Given the description of an element on the screen output the (x, y) to click on. 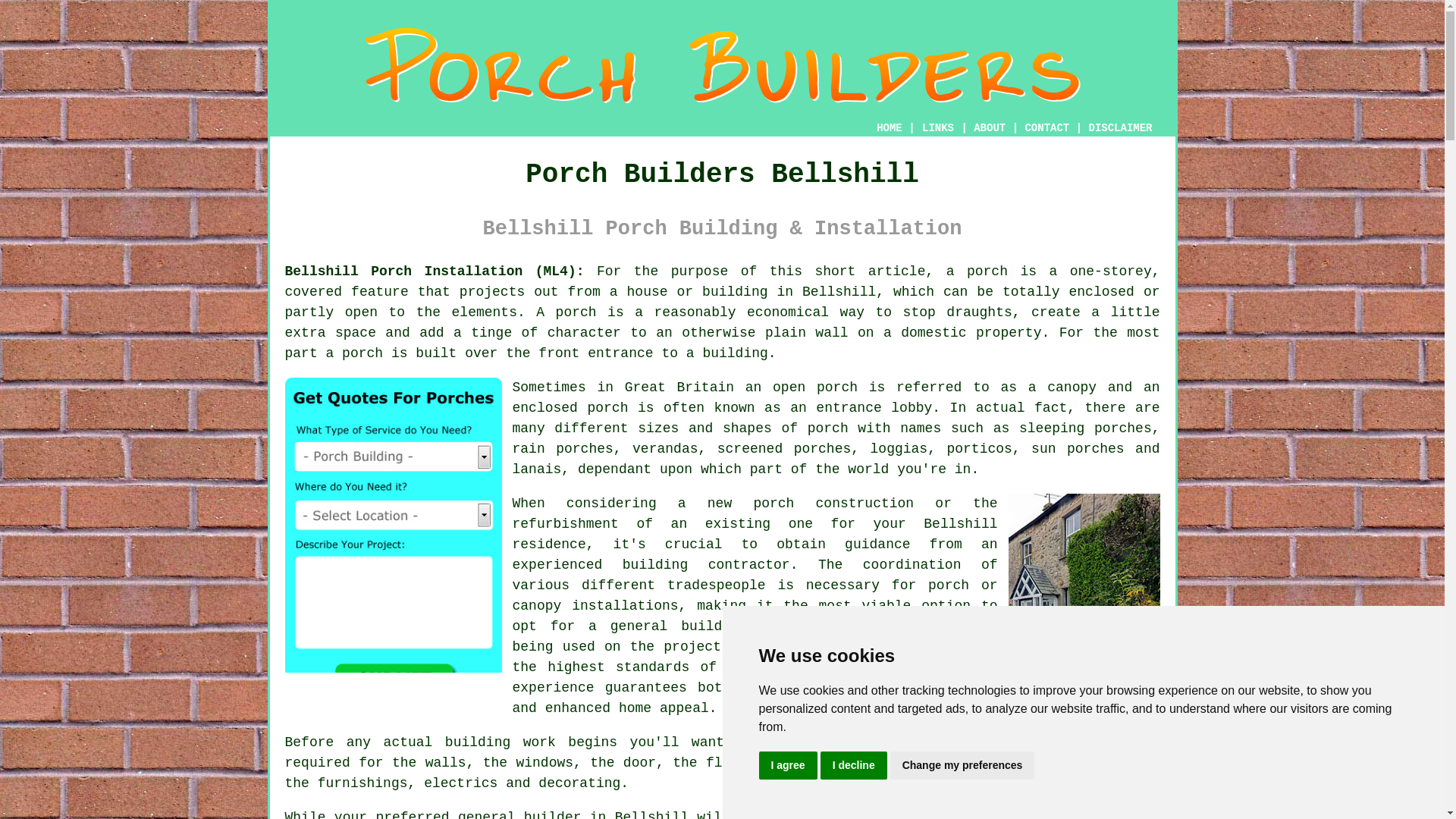
Change my preferences (962, 765)
Porch Builders Bellshill (722, 65)
LINKS (938, 128)
building contractor (706, 564)
I agree (787, 765)
a porch (876, 646)
HOME (889, 128)
I decline (853, 765)
